Given the description of an element on the screen output the (x, y) to click on. 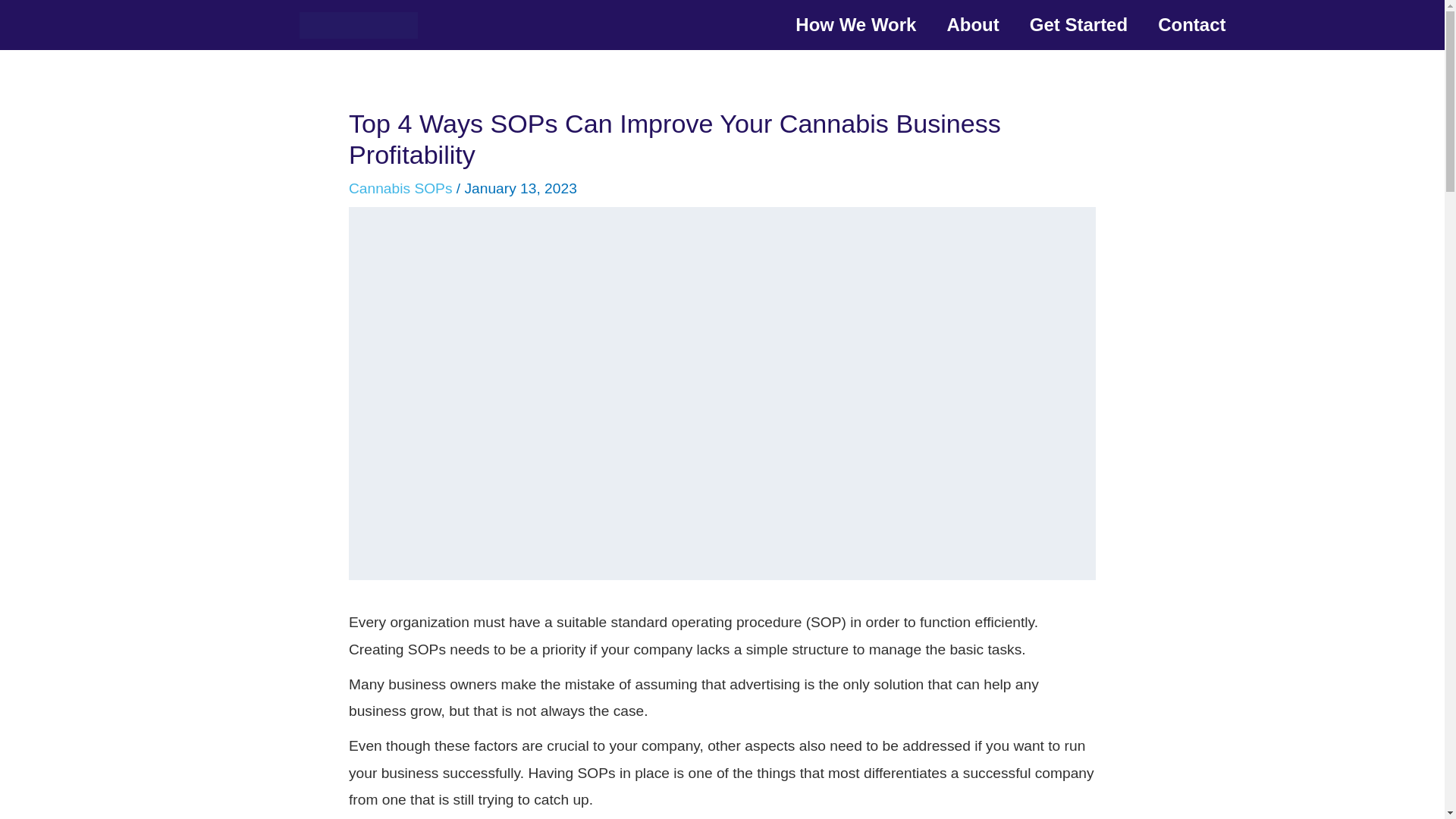
How We Work (855, 24)
Contact (1191, 24)
Get Started (1078, 24)
Cannabis SOPs (400, 188)
About (972, 24)
